Given the description of an element on the screen output the (x, y) to click on. 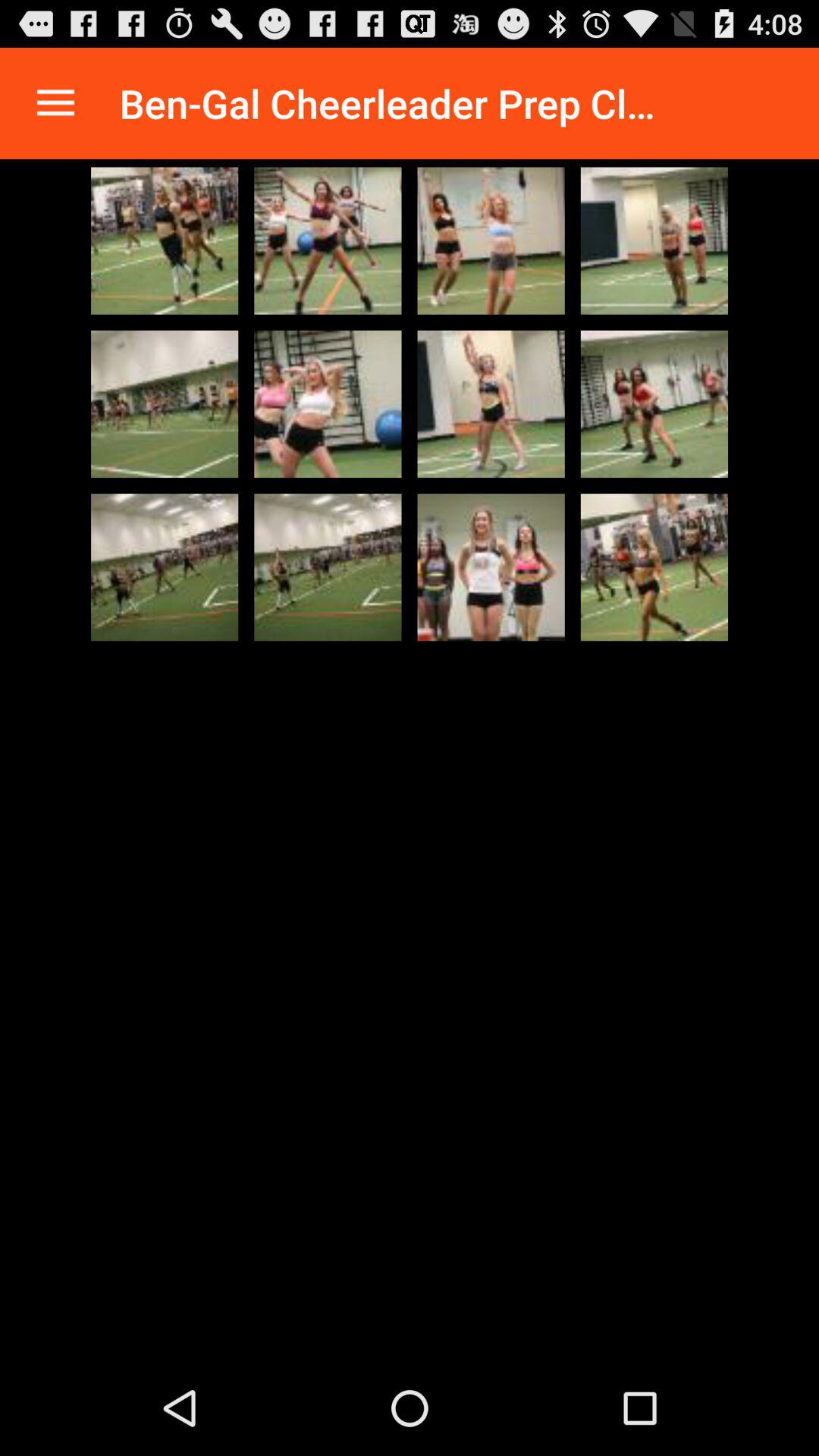
select image (327, 403)
